Given the description of an element on the screen output the (x, y) to click on. 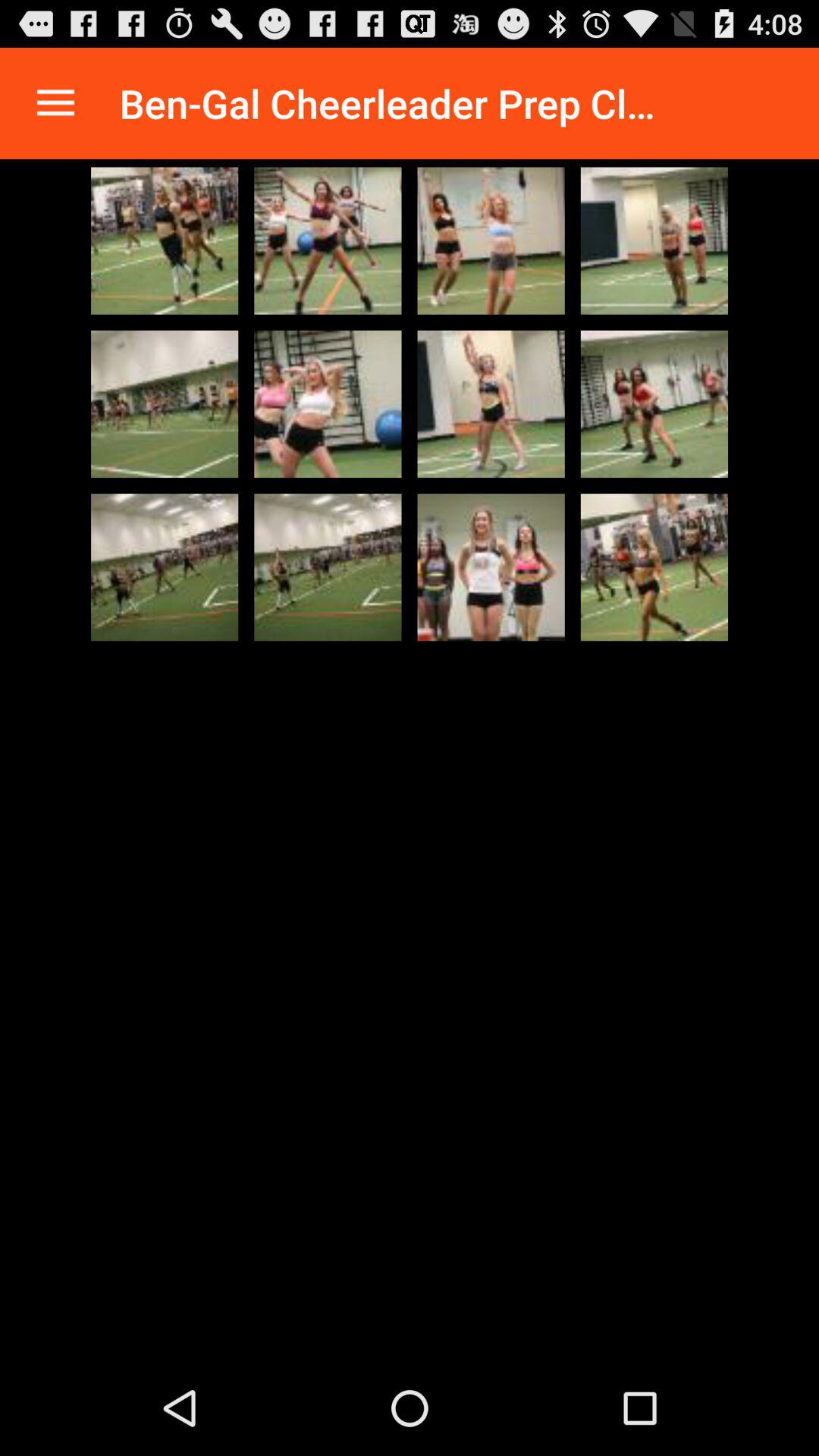
select image (327, 403)
